Given the description of an element on the screen output the (x, y) to click on. 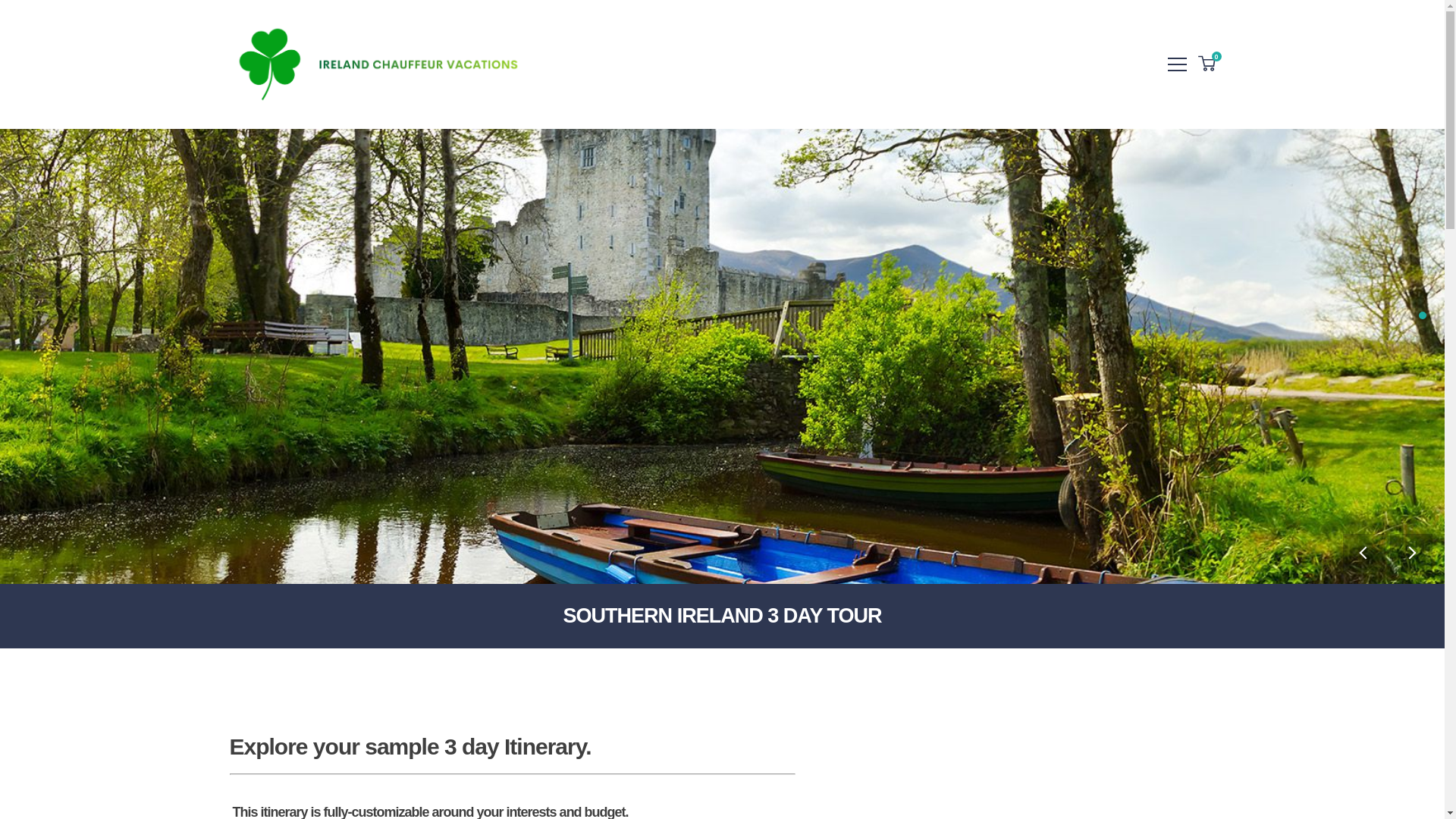
2 (1422, 330)
1 (1422, 315)
Menu (1176, 63)
3 (1206, 63)
